Given the description of an element on the screen output the (x, y) to click on. 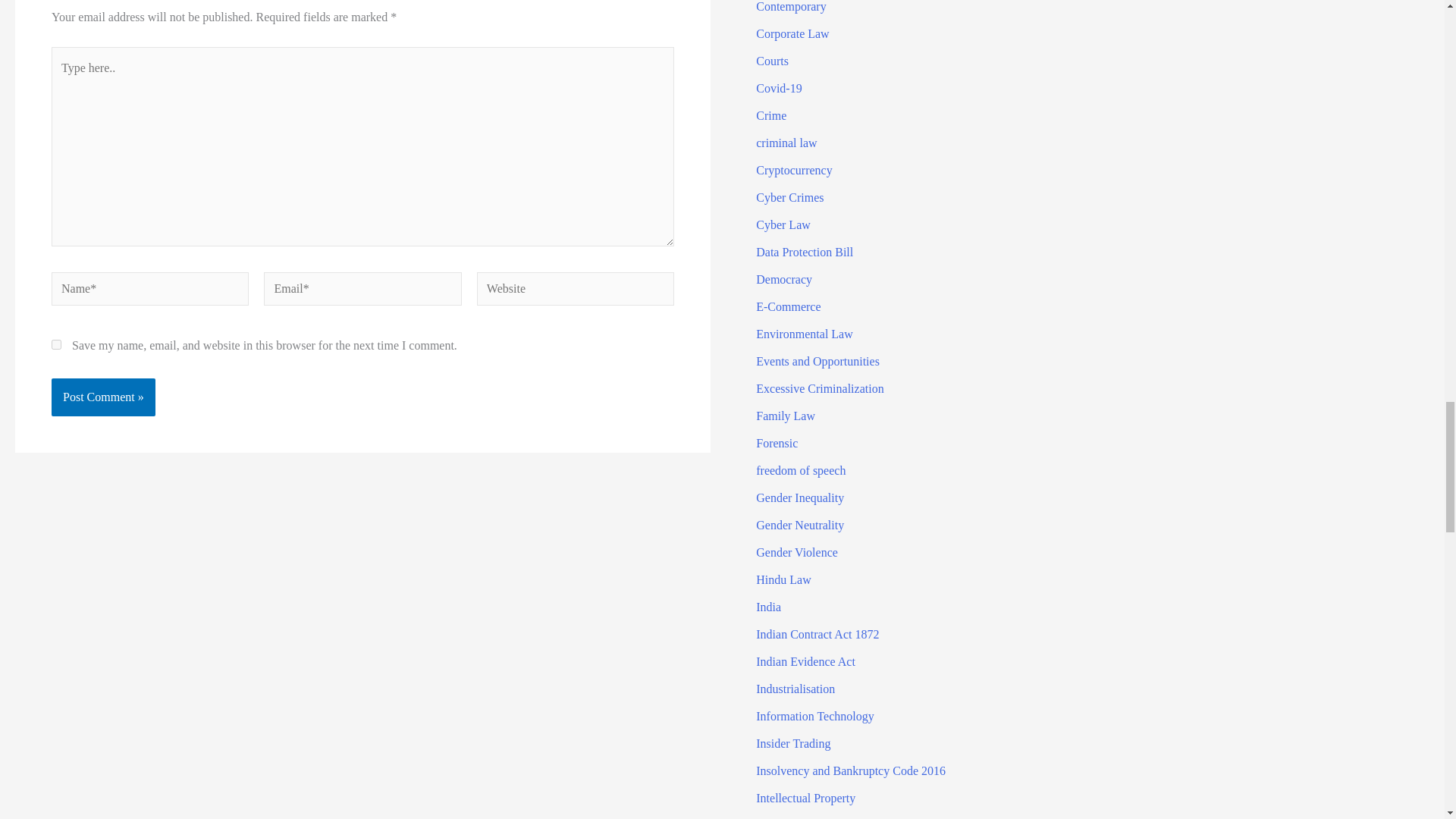
yes (55, 344)
